Given the description of an element on the screen output the (x, y) to click on. 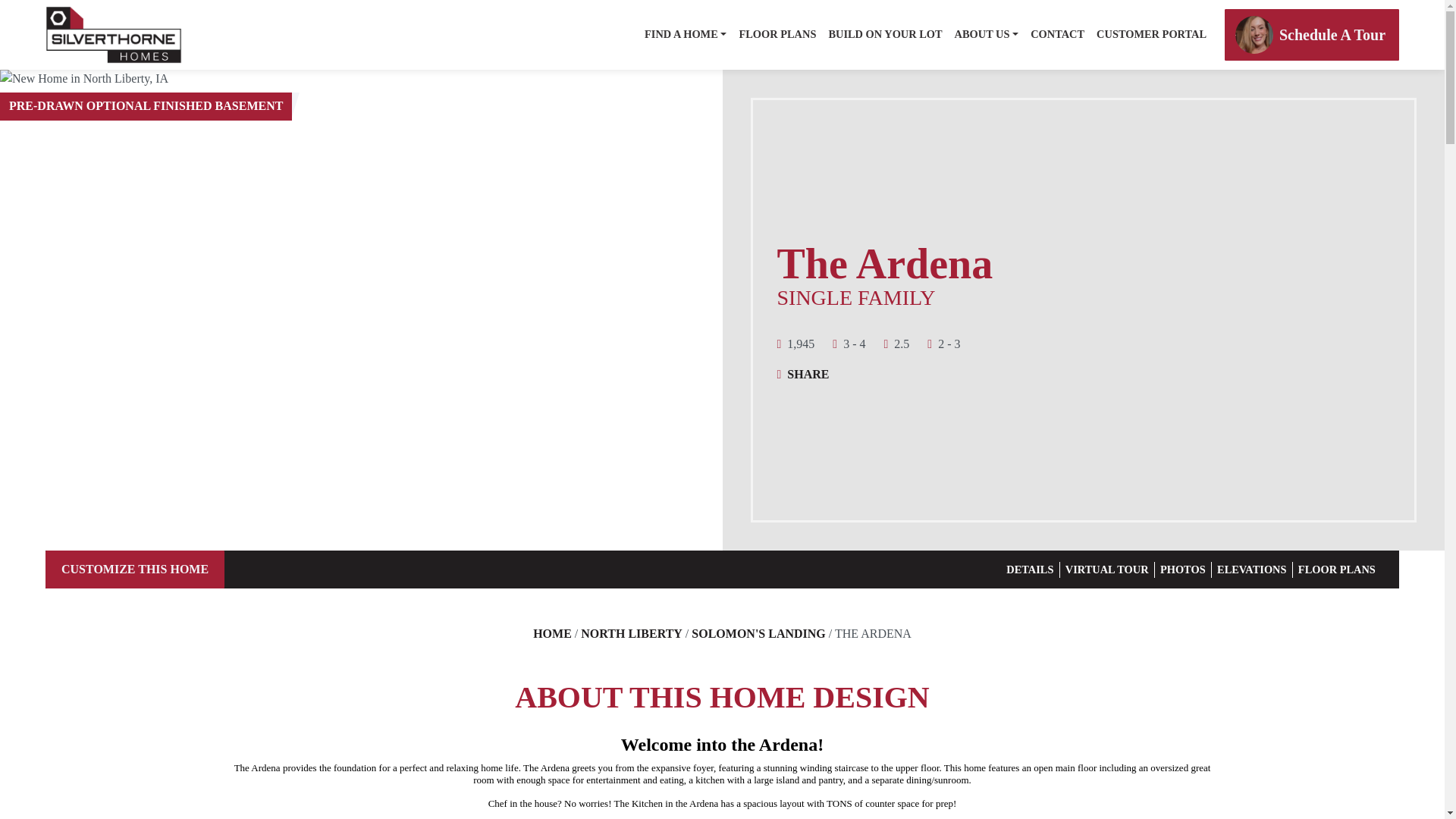
FIND A HOME (685, 34)
